Given the description of an element on the screen output the (x, y) to click on. 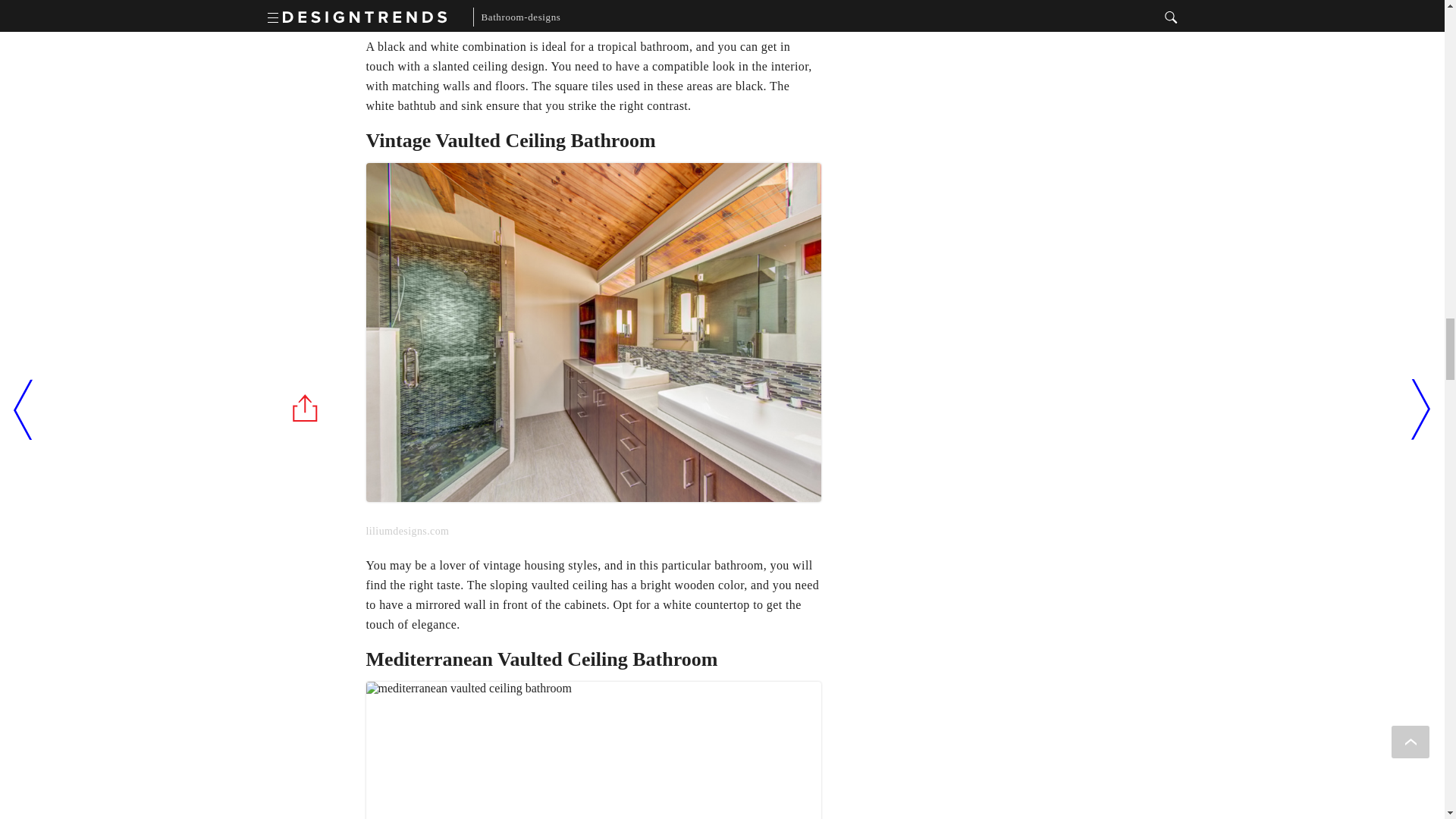
parkerhousehouston.com (593, 733)
leicht.com (593, 11)
